Given the description of an element on the screen output the (x, y) to click on. 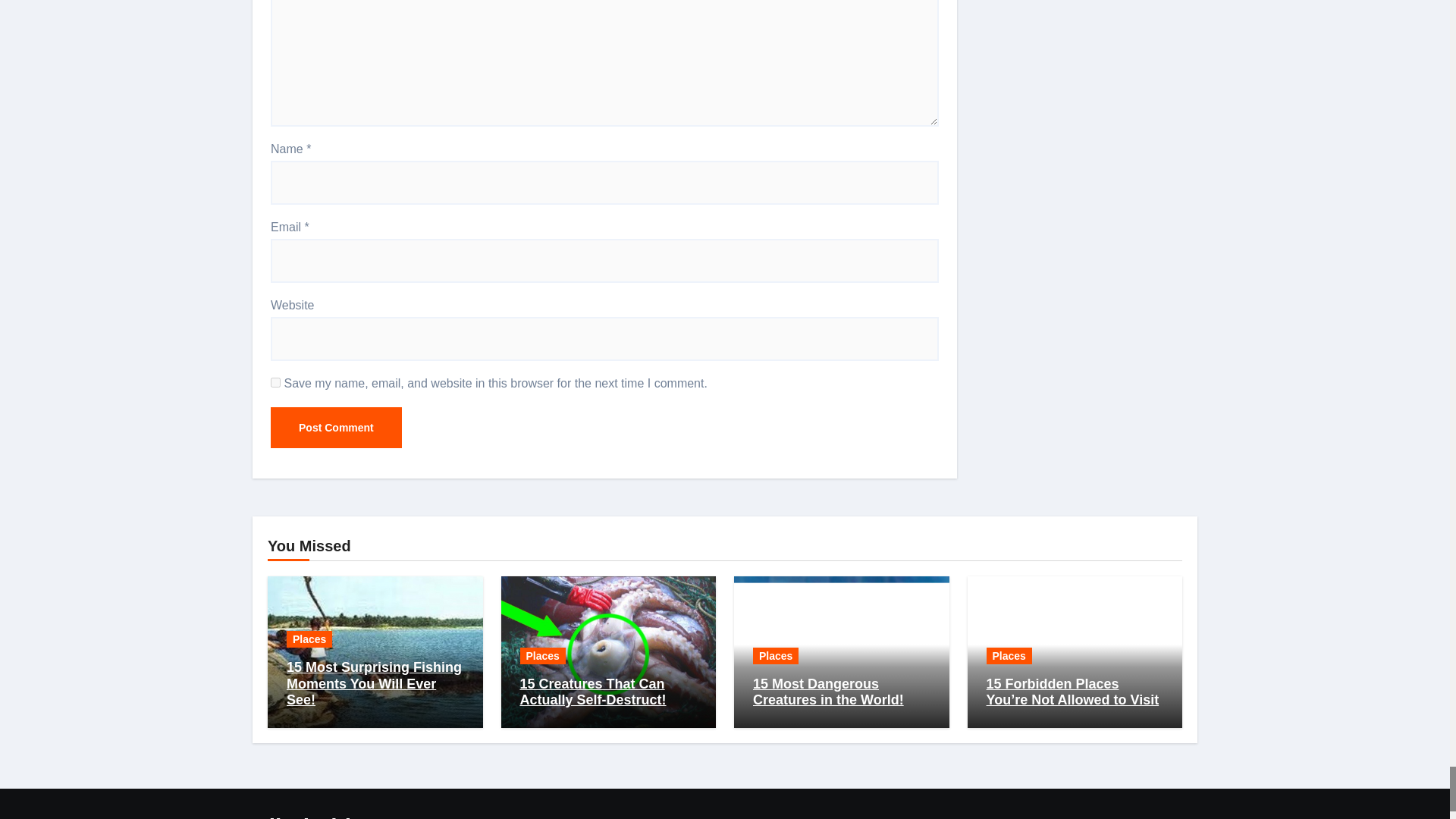
Permalink to: 15 Most Dangerous Creatures in the World! (828, 692)
yes (275, 382)
Post Comment (335, 427)
Permalink to: 15 Creatures That Can Actually Self-Destruct! (592, 692)
